Given the description of an element on the screen output the (x, y) to click on. 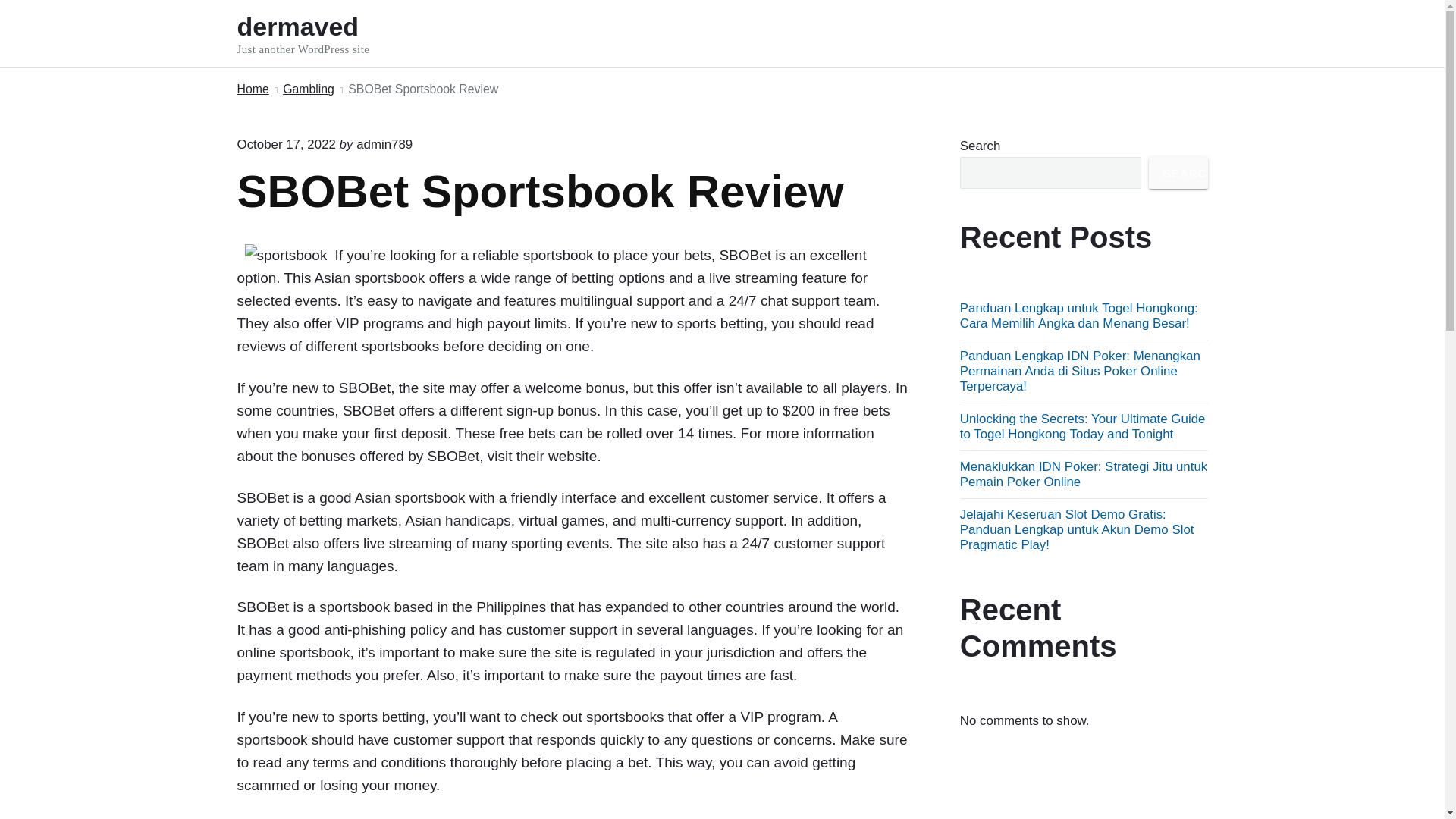
SEARCH (322, 33)
Monday, October 17, 2022, 4:19 am (1178, 173)
Gambling (284, 144)
Home (308, 89)
